Given the description of an element on the screen output the (x, y) to click on. 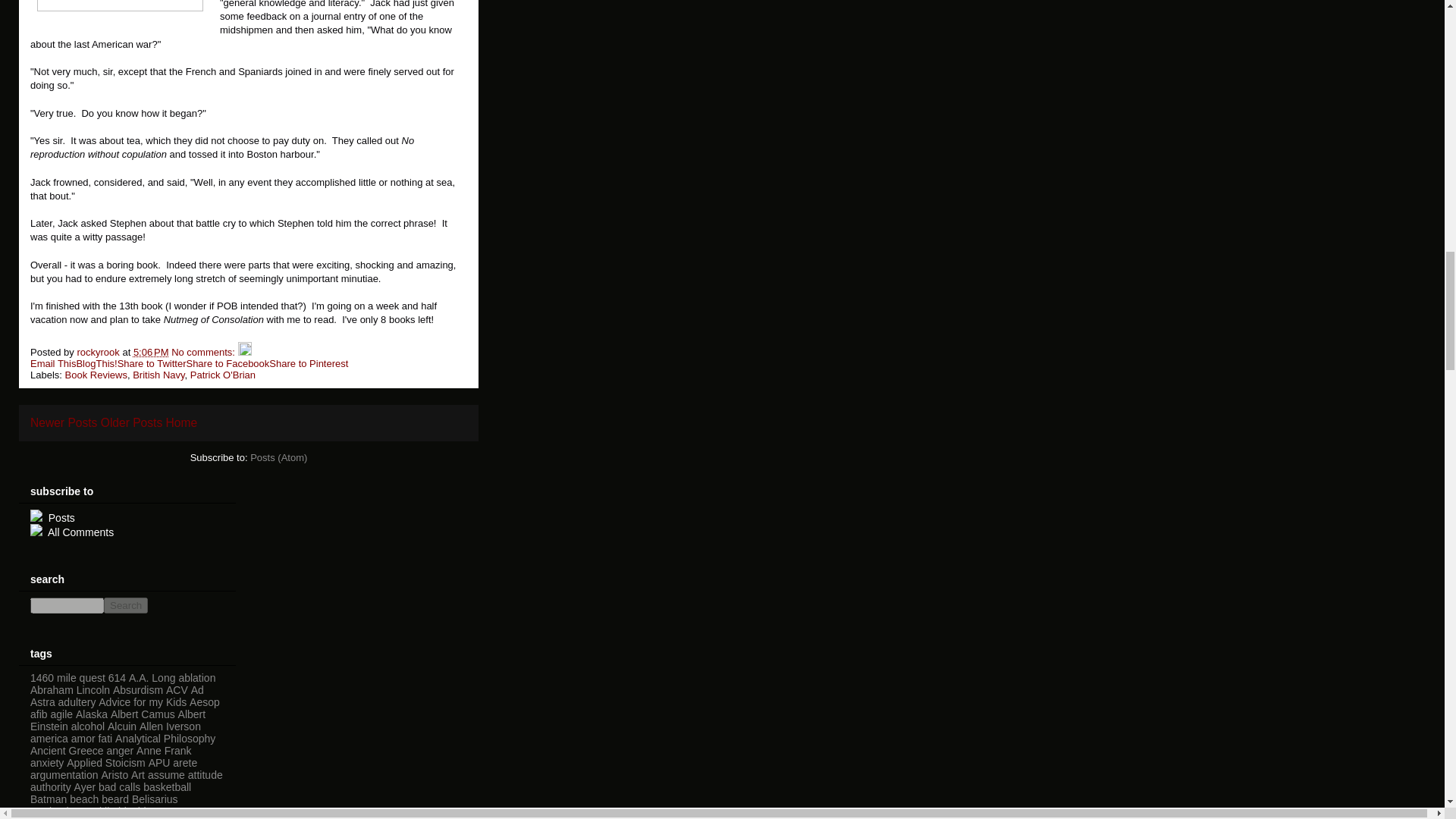
Share to Pinterest (308, 363)
Email This (52, 363)
Search (125, 605)
Share to Facebook (227, 363)
No comments: (204, 351)
author profile (99, 351)
Edit Post (244, 351)
BlogThis! (95, 363)
Share to Twitter (151, 363)
permanent link (150, 351)
rockyrook (99, 351)
Email This (52, 363)
BlogThis! (95, 363)
Search (125, 605)
